Given the description of an element on the screen output the (x, y) to click on. 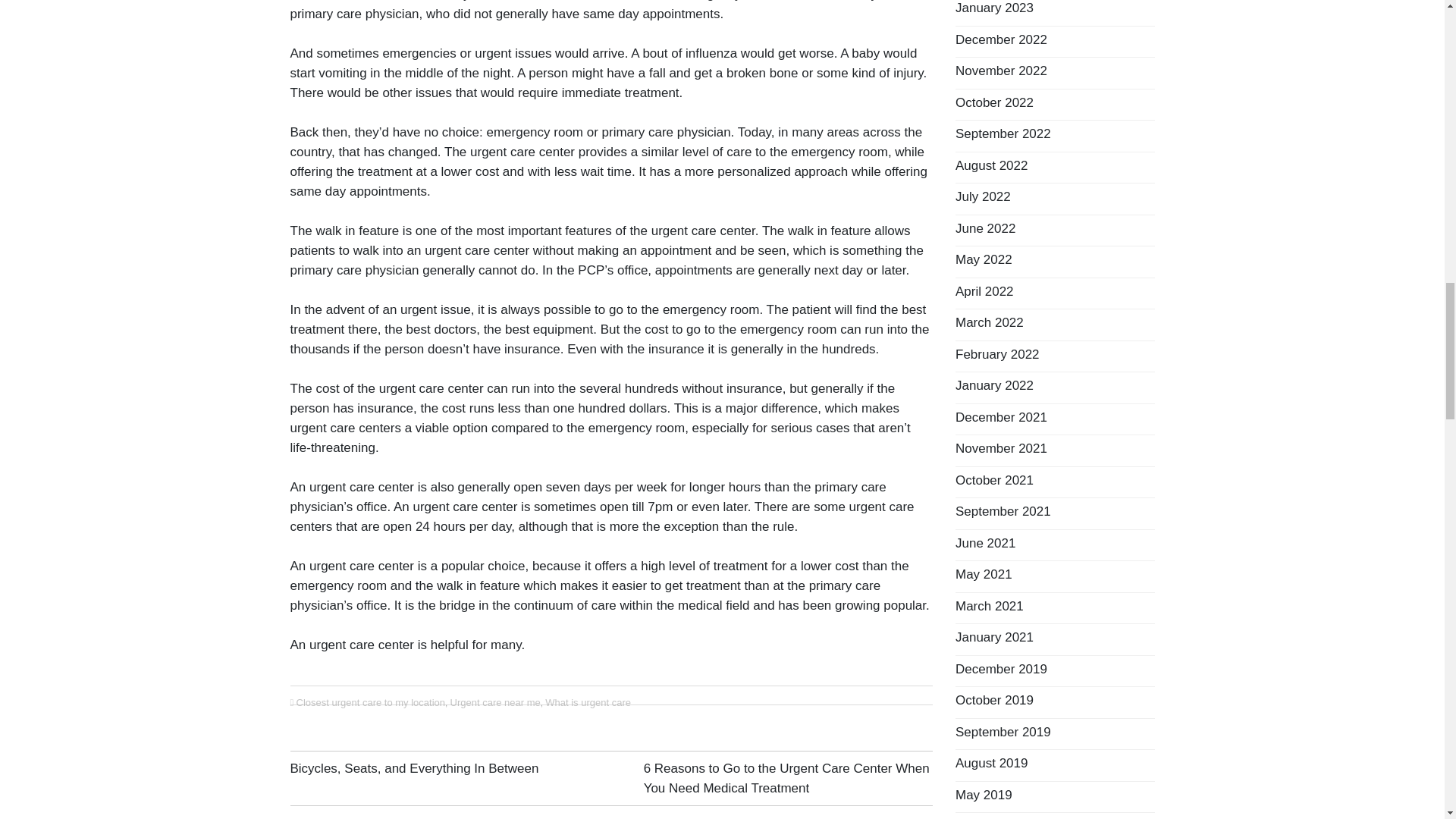
Bicycles, Seats, and Everything In Between (413, 768)
Emergency room bakersfield, Urgent care nearby (542, 506)
urgent care center is sometimes open till 7pm (542, 506)
Urgent care near me (494, 702)
Closest urgent care to my location (370, 702)
What is urgent care (587, 702)
